Given the description of an element on the screen output the (x, y) to click on. 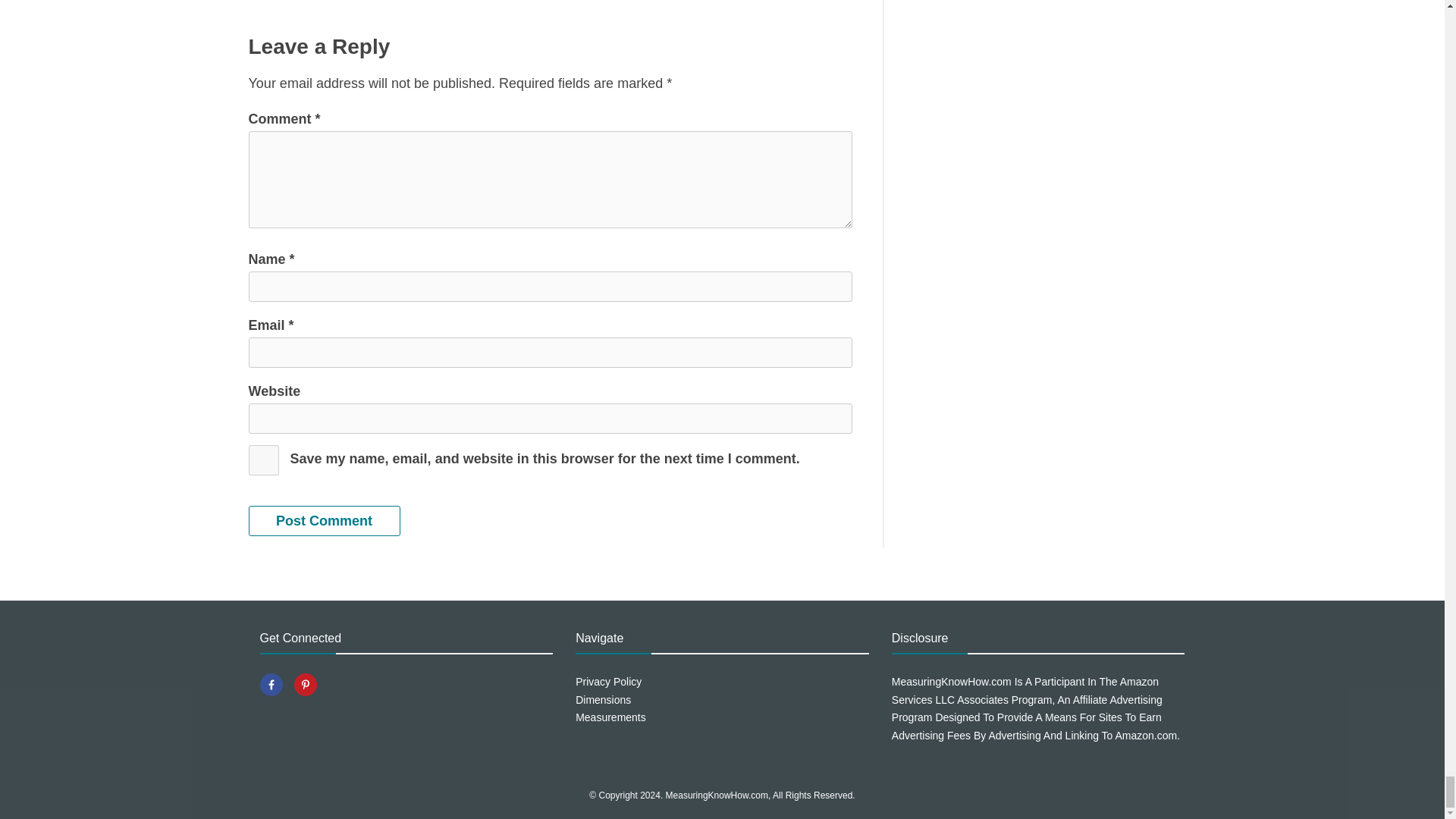
yes (263, 460)
Post Comment (324, 521)
Post Comment (324, 521)
